Given the description of an element on the screen output the (x, y) to click on. 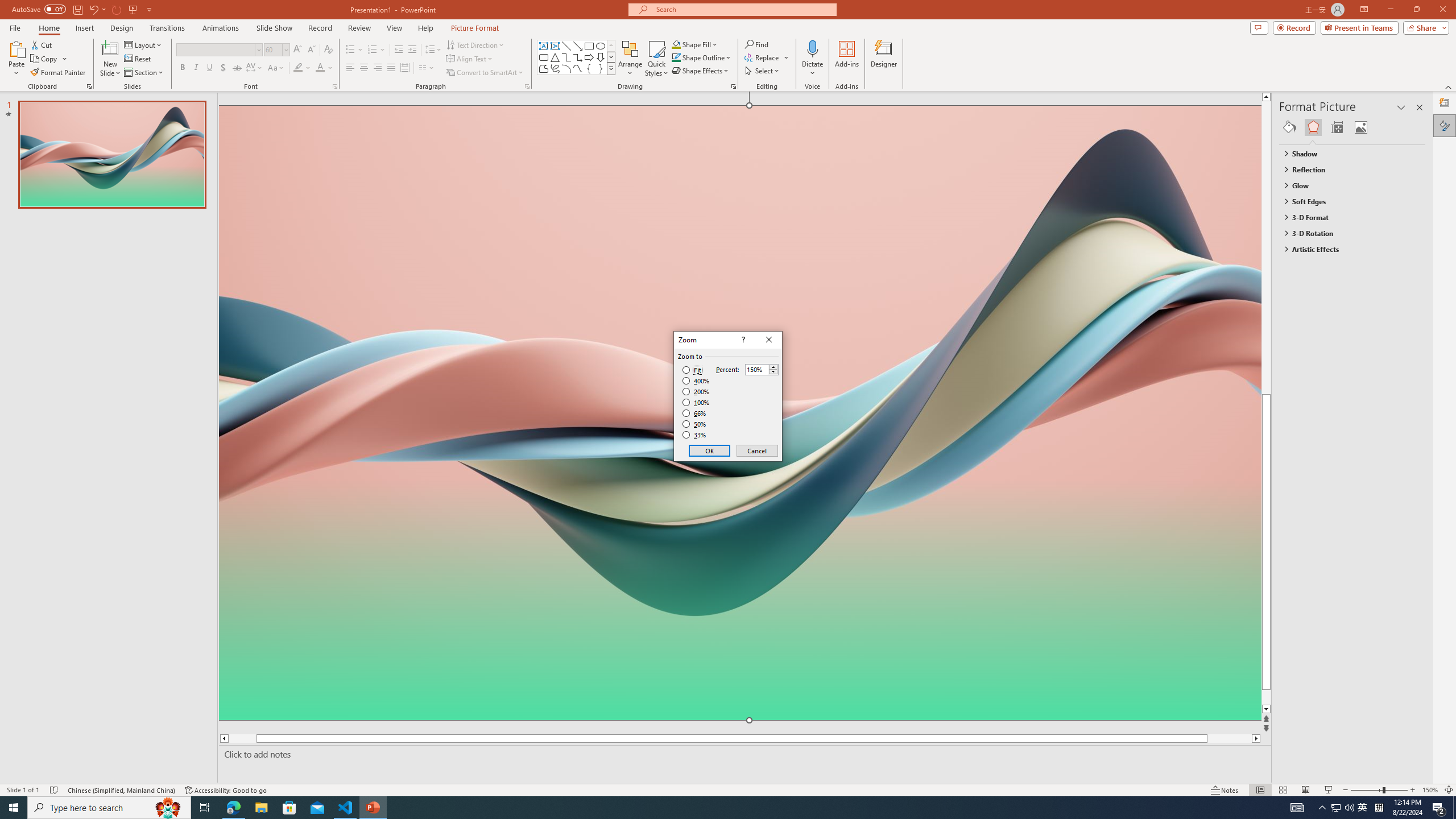
Picture Format (475, 28)
Format Picture (1444, 125)
33% (694, 434)
